Given the description of an element on the screen output the (x, y) to click on. 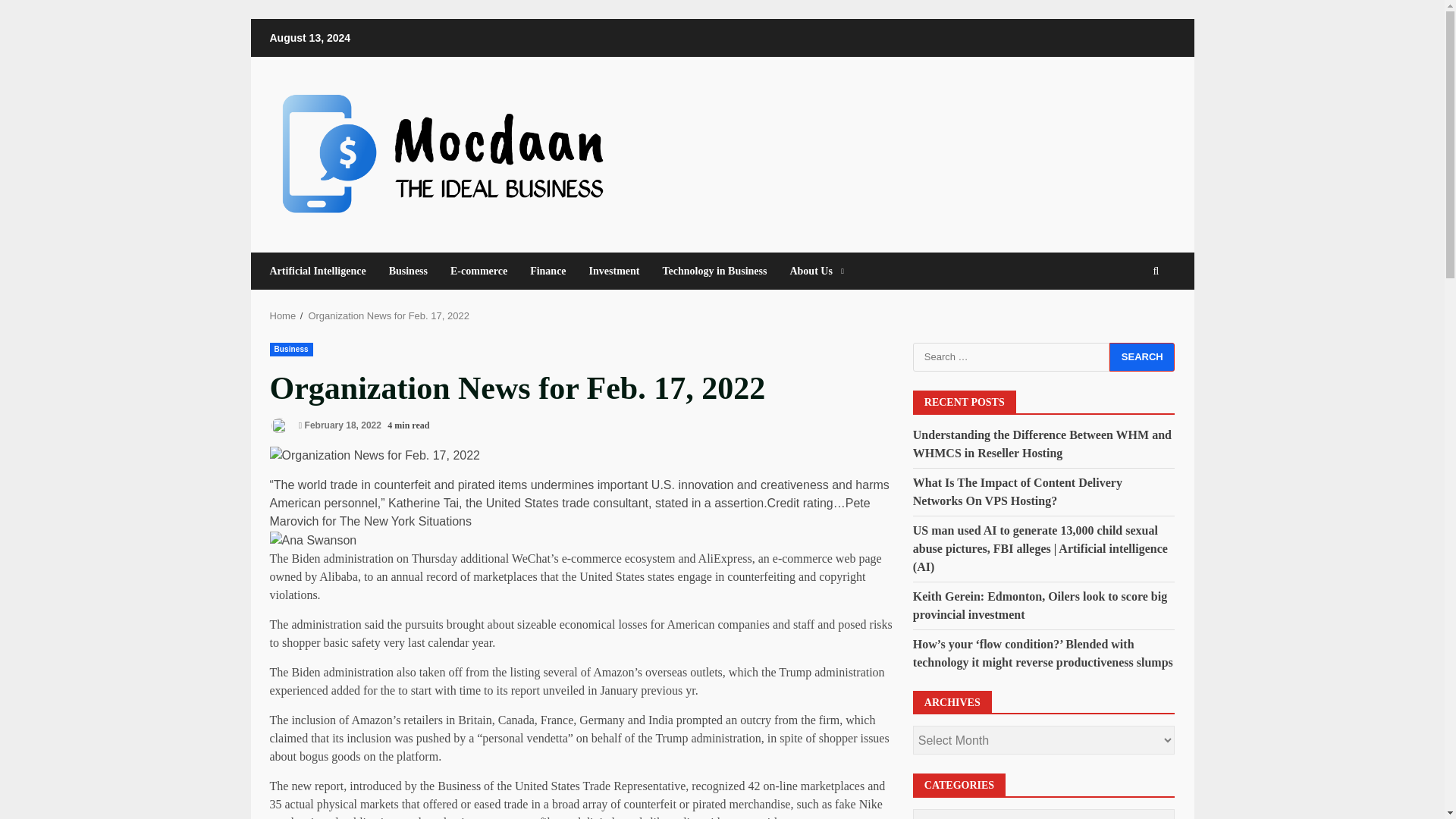
Finance (547, 270)
Business (291, 349)
The new report (306, 785)
Home (283, 315)
Artificial Intelligence (323, 270)
Ana Swanson (312, 540)
Organization News for Feb. 17, 2022 (387, 315)
Technology in Business (713, 270)
an outcry (748, 719)
